Given the description of an element on the screen output the (x, y) to click on. 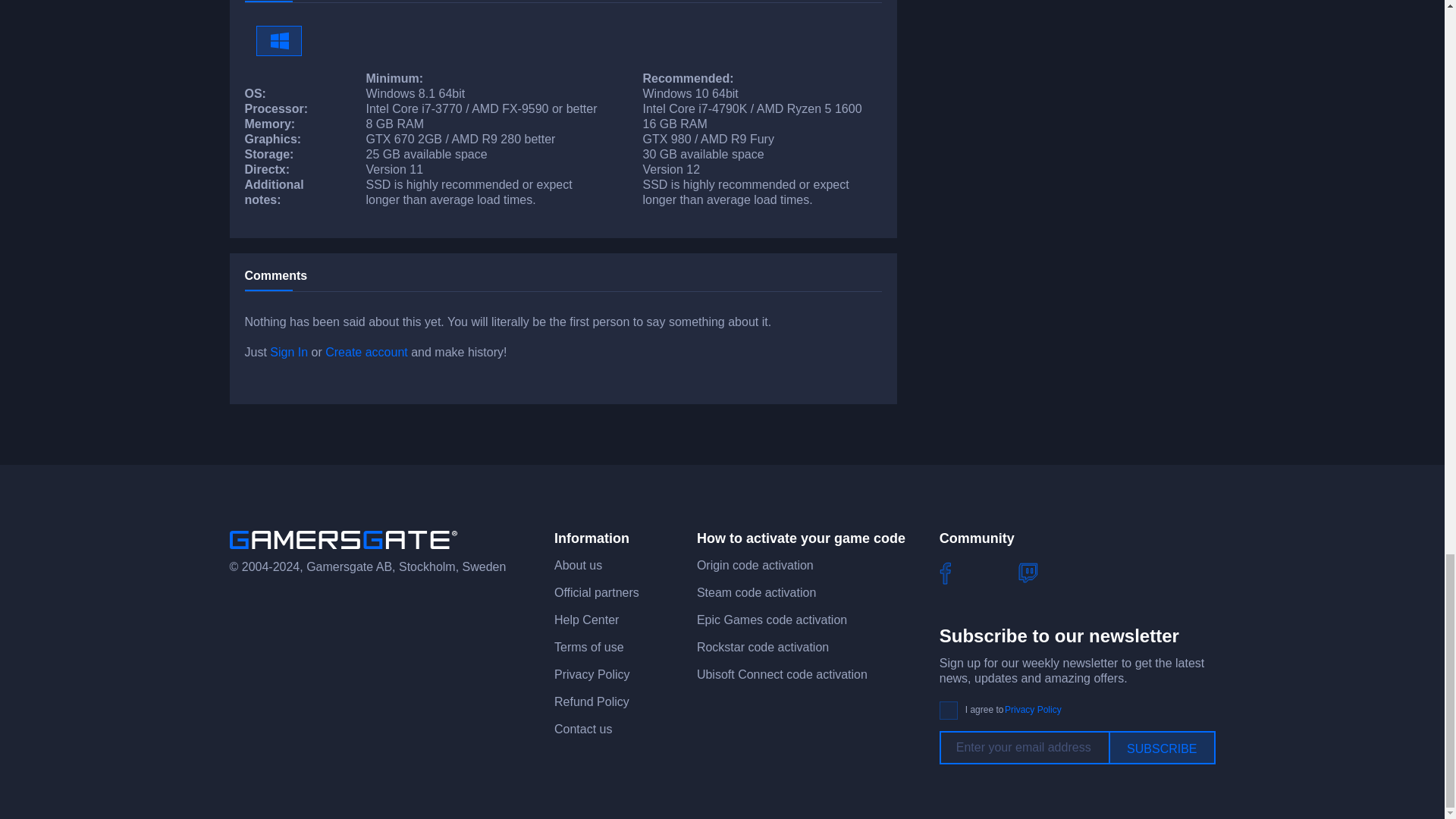
Subscribe (1161, 747)
Help Center (586, 619)
Terms of use (589, 646)
Official partners (596, 592)
Create account (365, 351)
About us (578, 564)
Sign In (288, 351)
